Given the description of an element on the screen output the (x, y) to click on. 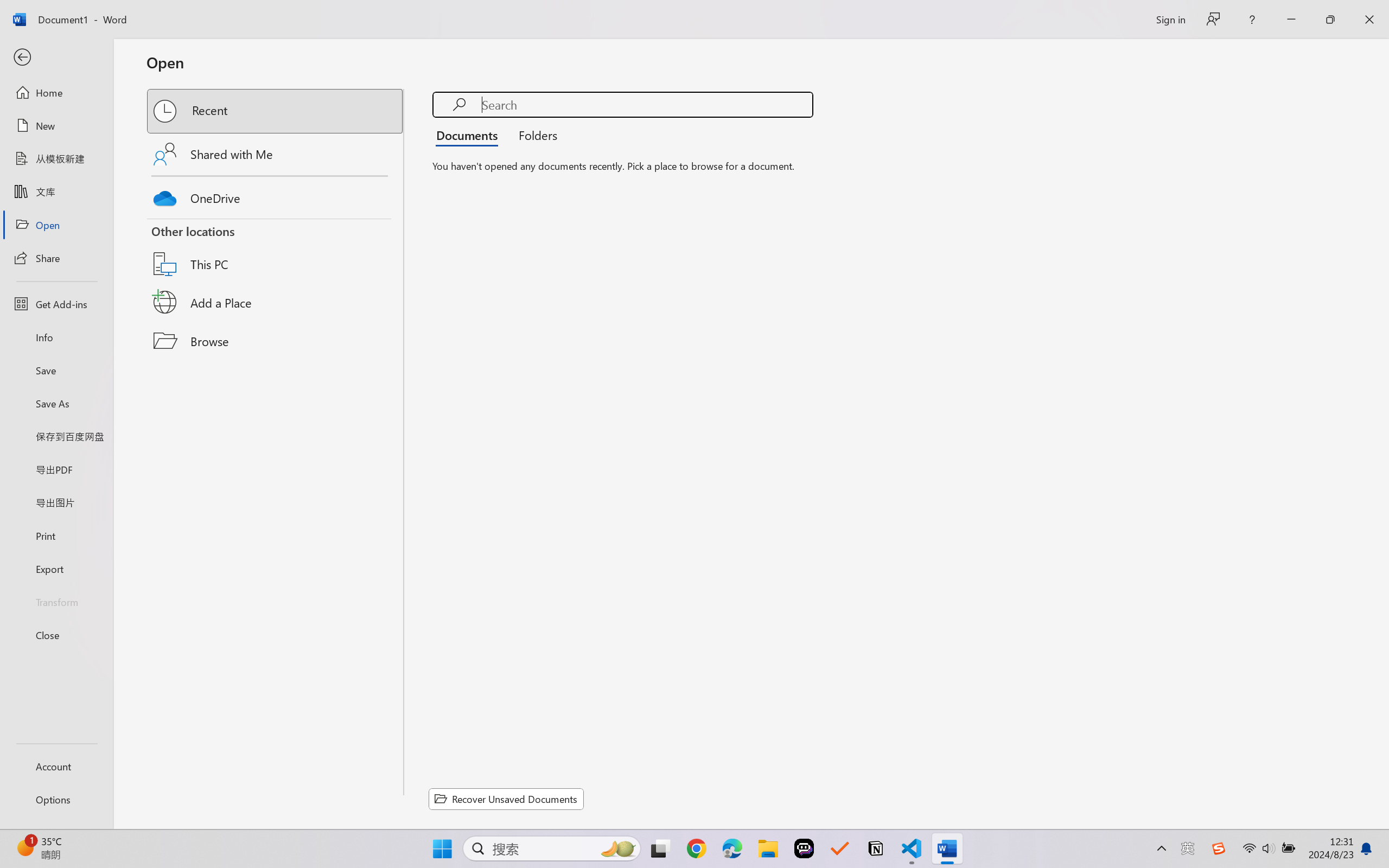
Recover Unsaved Documents (506, 798)
Shared with Me (275, 153)
Recent (275, 110)
Documents (469, 134)
Get Add-ins (56, 303)
OneDrive (275, 195)
